Given the description of an element on the screen output the (x, y) to click on. 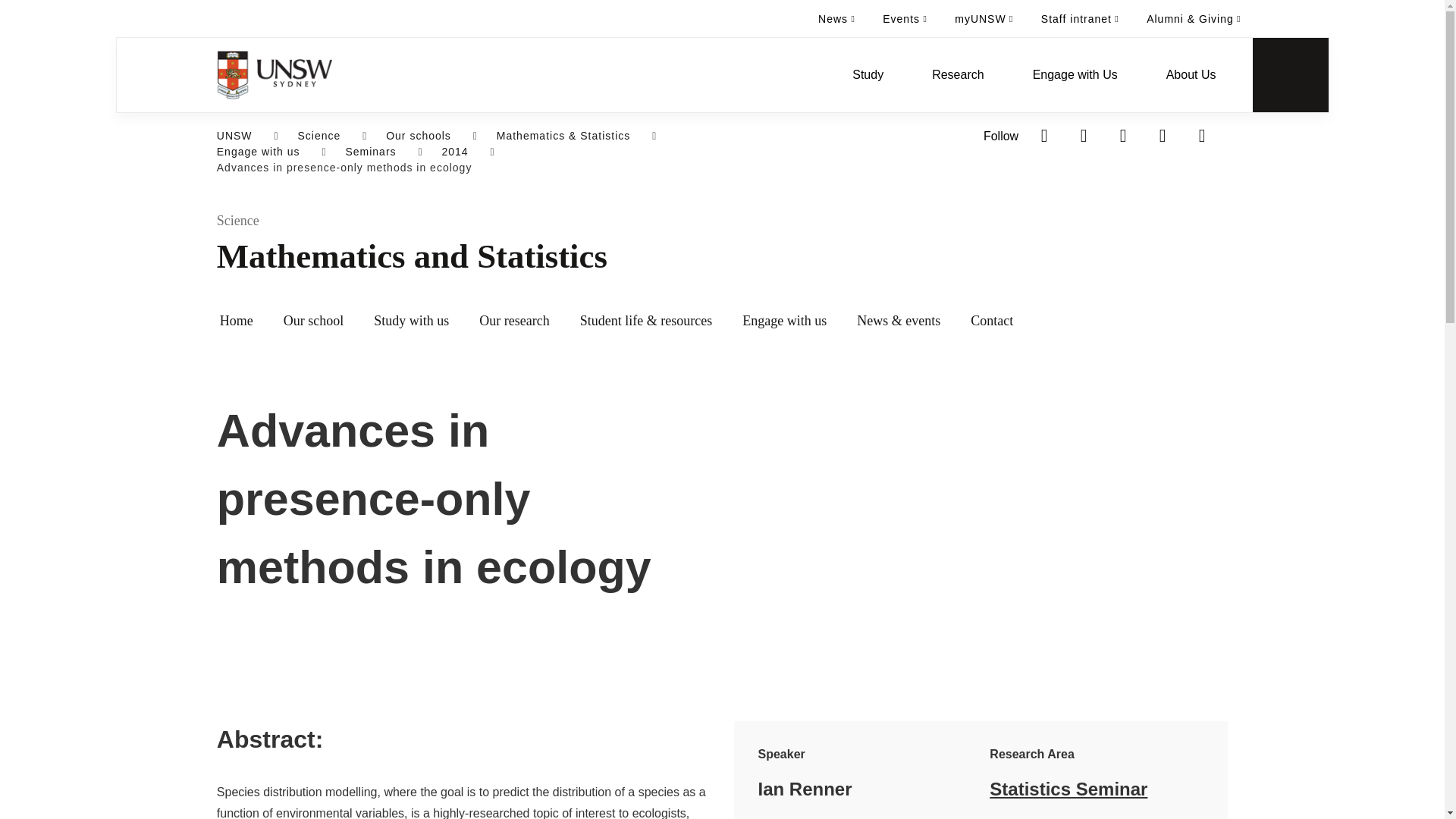
myUNSW (983, 18)
UNSW (233, 135)
Events (904, 18)
Science (772, 221)
Our schools (418, 135)
Mathematics and Statistics (772, 256)
Research (957, 74)
Home (273, 74)
Seminars (370, 151)
Our school (313, 322)
News (836, 18)
Study (867, 74)
Science (318, 135)
Staff intranet (1080, 18)
About Us (1190, 74)
